Given the description of an element on the screen output the (x, y) to click on. 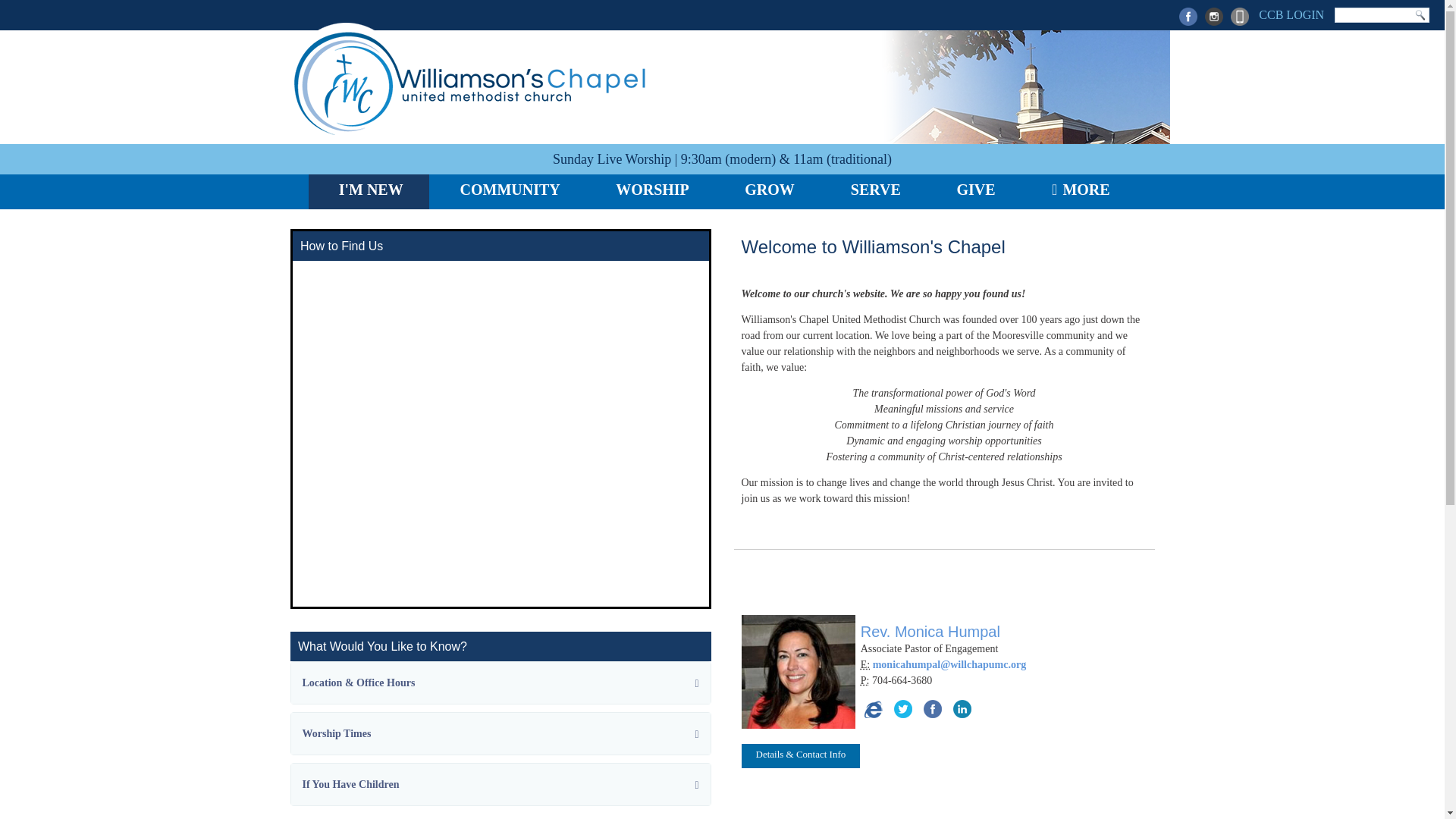
Sunday Live Worship (612, 159)
WORSHIP (649, 191)
I'M NEW (369, 191)
GIVE (973, 191)
CCB LOGIN (1288, 17)
GROW (767, 191)
COMMUNITY (507, 191)
SERVE (873, 191)
